Given the description of an element on the screen output the (x, y) to click on. 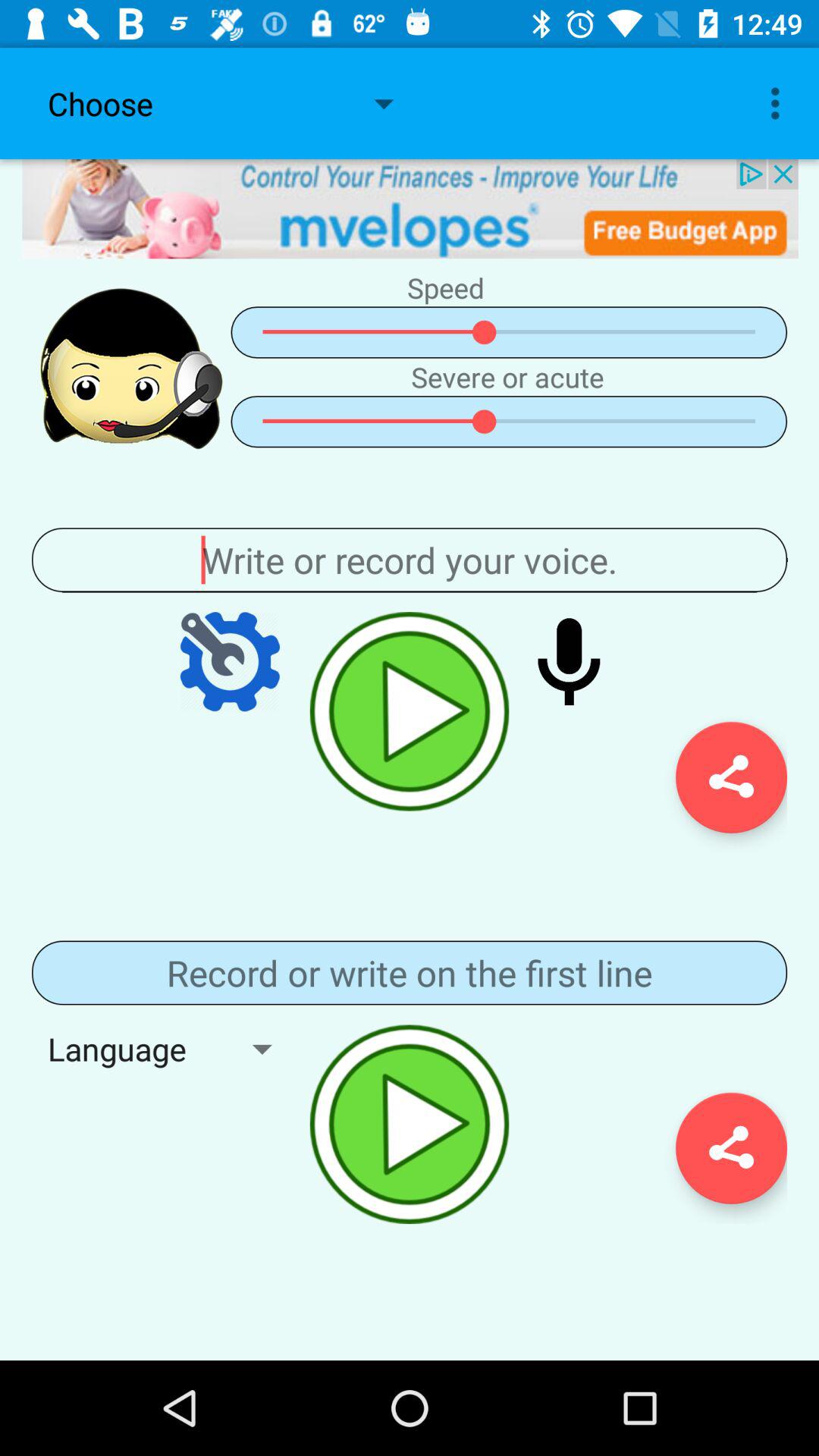
play recording (409, 711)
